Given the description of an element on the screen output the (x, y) to click on. 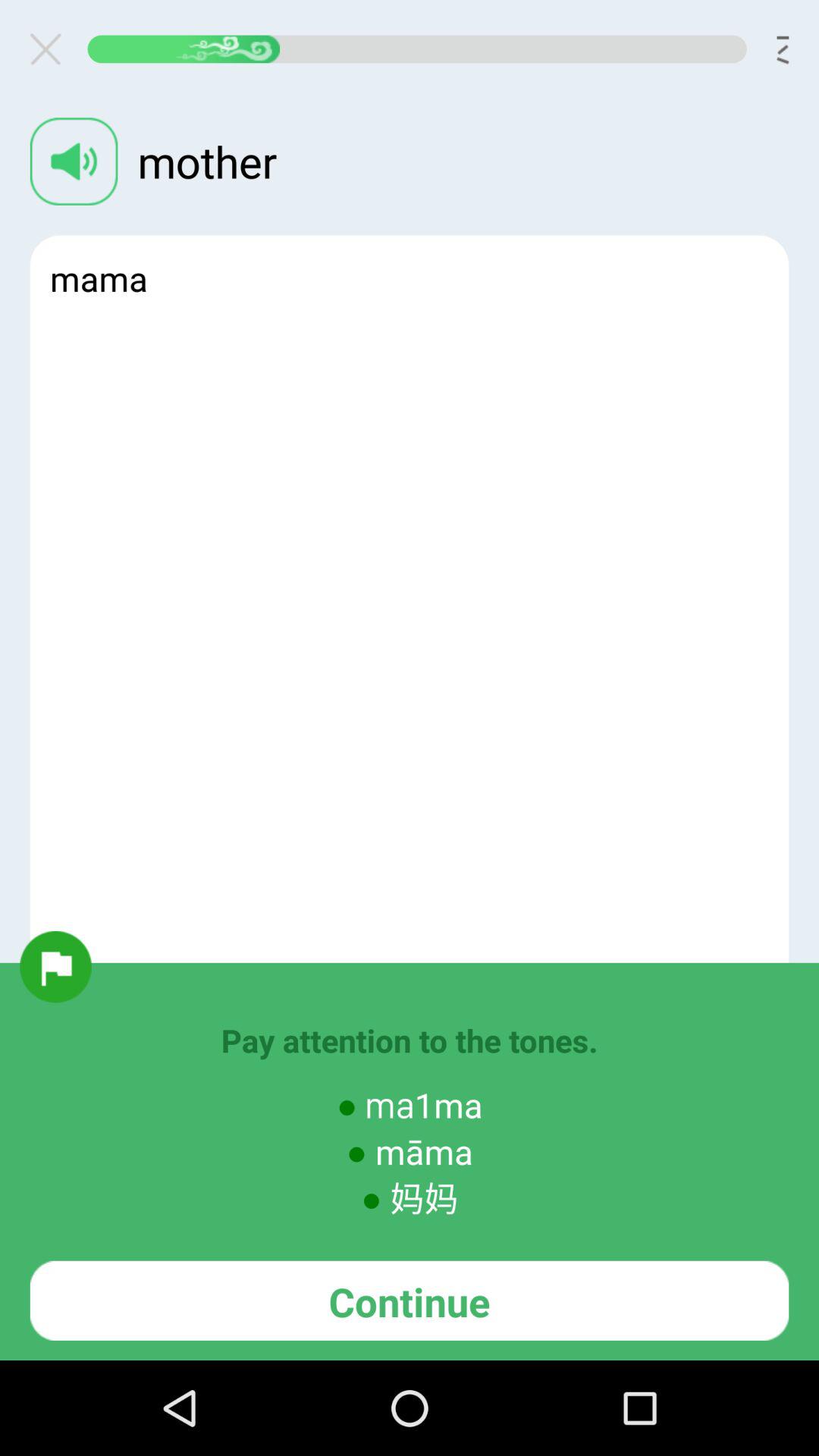
exit current page (51, 49)
